Given the description of an element on the screen output the (x, y) to click on. 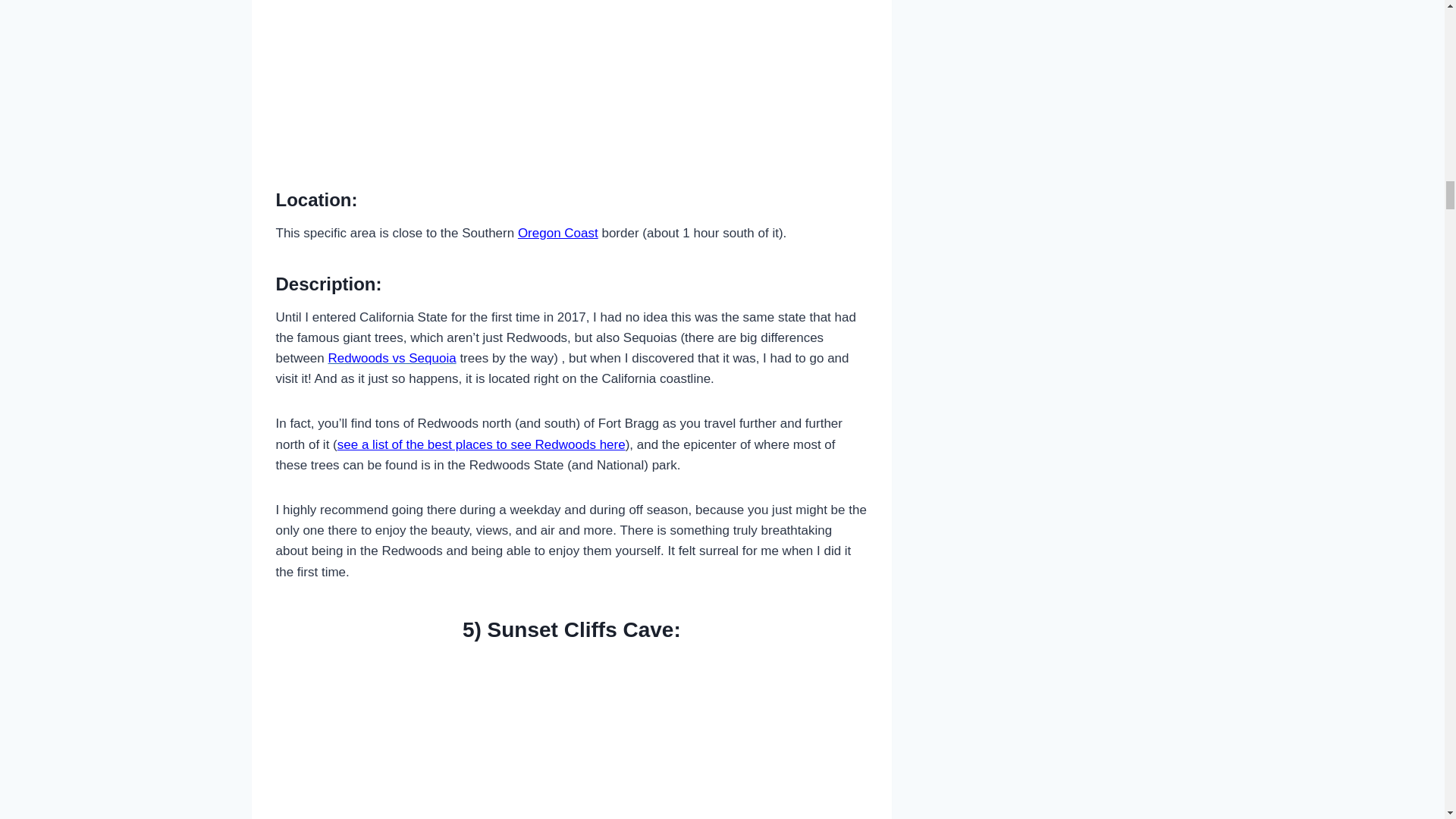
see a list of the best places to see Redwoods here (481, 444)
Oregon Coast (558, 233)
Redwoods vs Sequoia (391, 358)
